Given the description of an element on the screen output the (x, y) to click on. 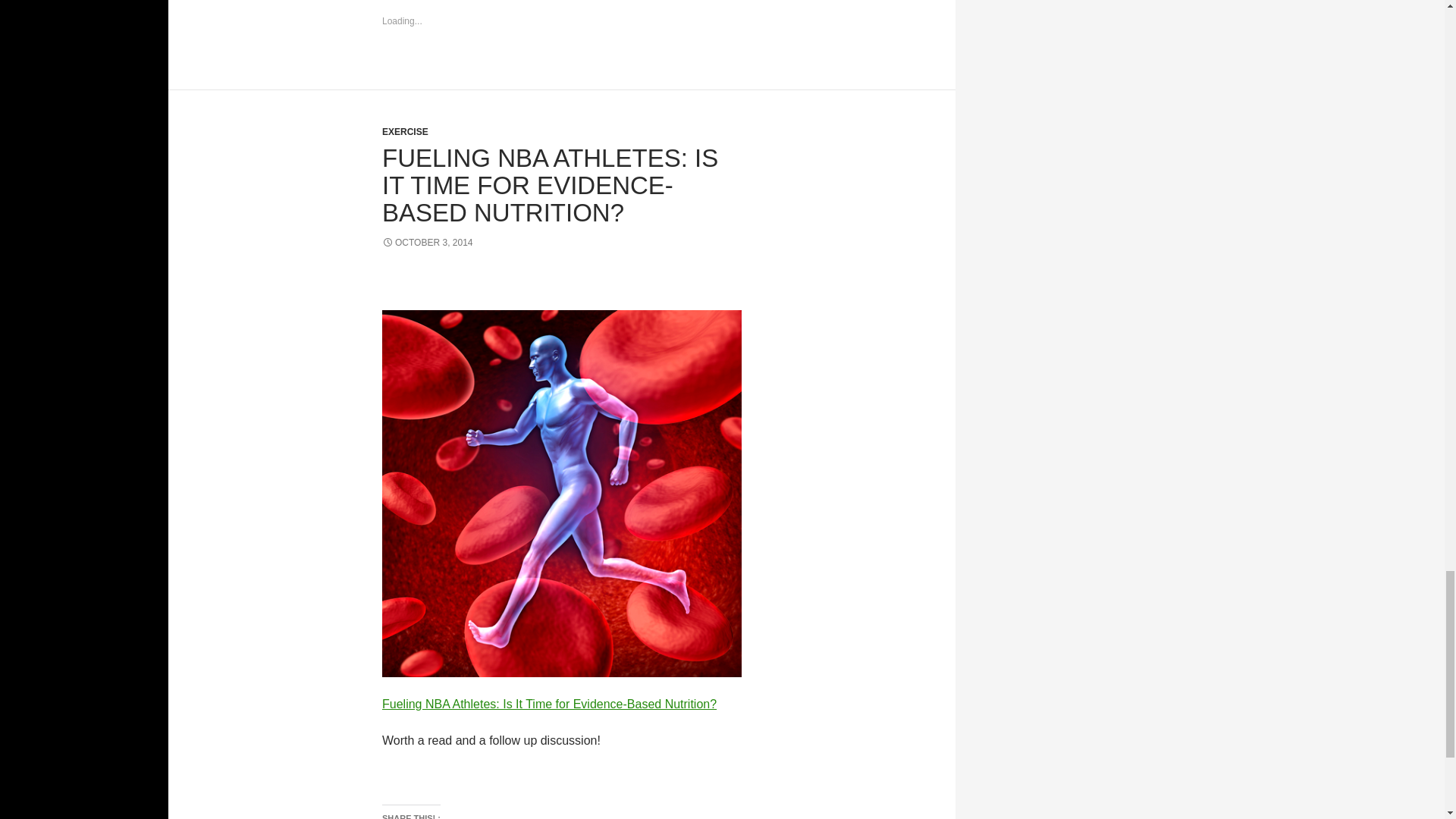
EXERCISE (404, 131)
OCTOBER 3, 2014 (427, 242)
